Given the description of an element on the screen output the (x, y) to click on. 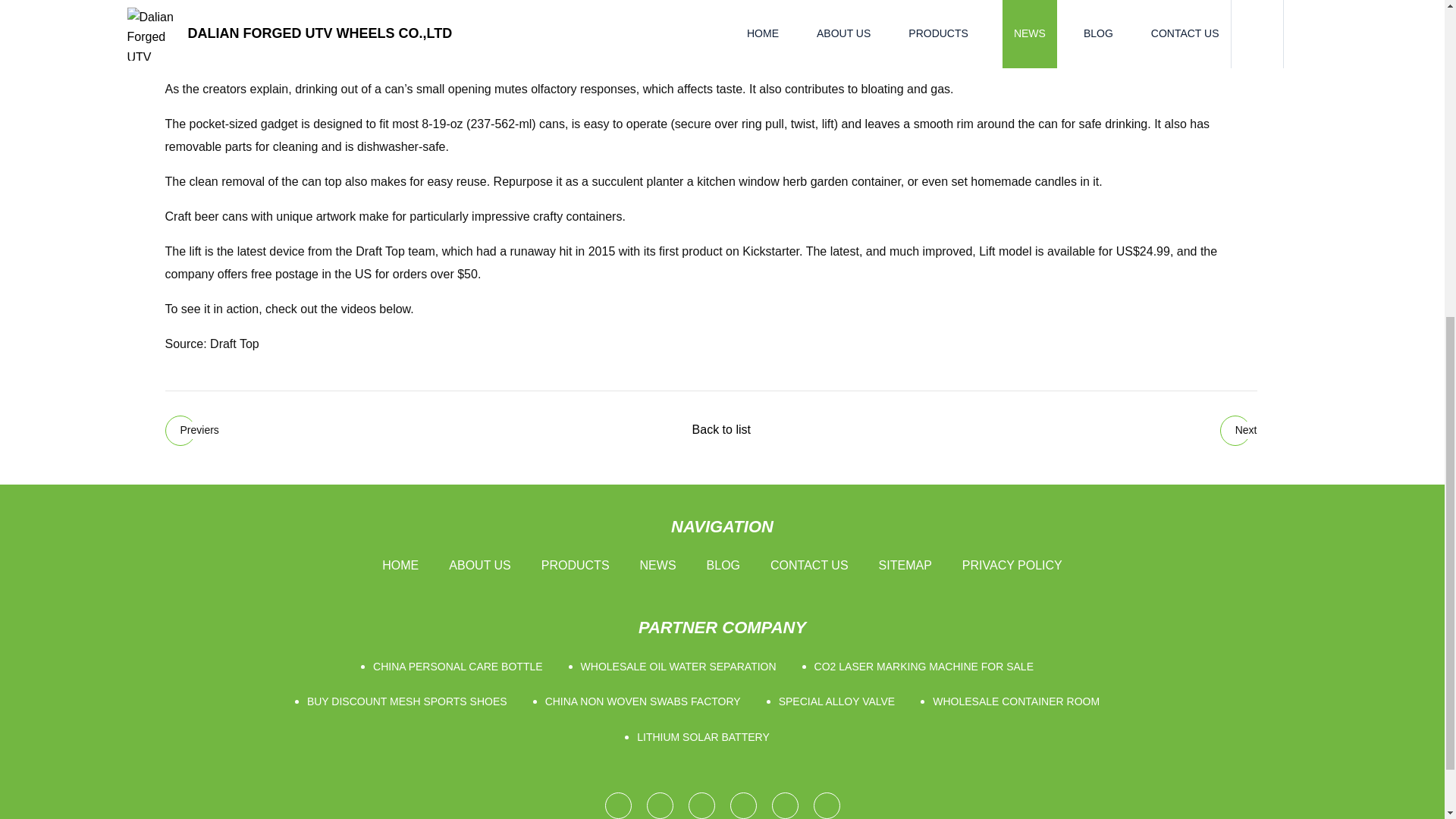
BUY DISCOUNT MESH SPORTS SHOES (411, 701)
CHINA PERSONAL CARE BOTTLE (461, 666)
Previers (192, 430)
BLOG (723, 565)
Back to list (719, 429)
NEWS (657, 565)
Next (1238, 430)
SITEMAP (904, 565)
Dymag and Hankuk Carbon Join Forces to Re (192, 430)
CONTACT US (809, 565)
HOME (400, 565)
CO2 LASER MARKING MACHINE FOR SALE (927, 666)
PRODUCTS (575, 565)
ABOUT US (479, 565)
